Given the description of an element on the screen output the (x, y) to click on. 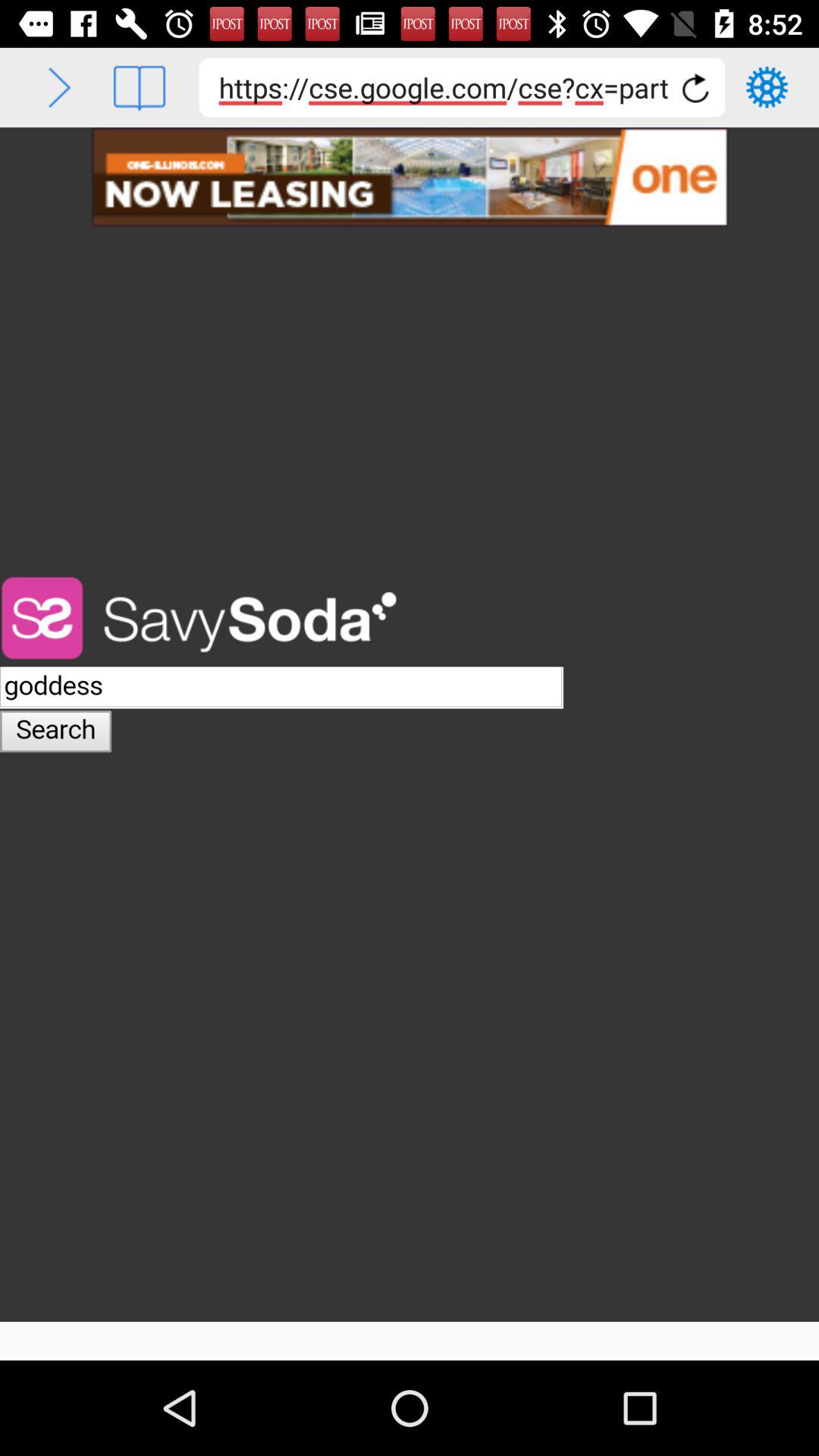
next option (59, 87)
